Given the description of an element on the screen output the (x, y) to click on. 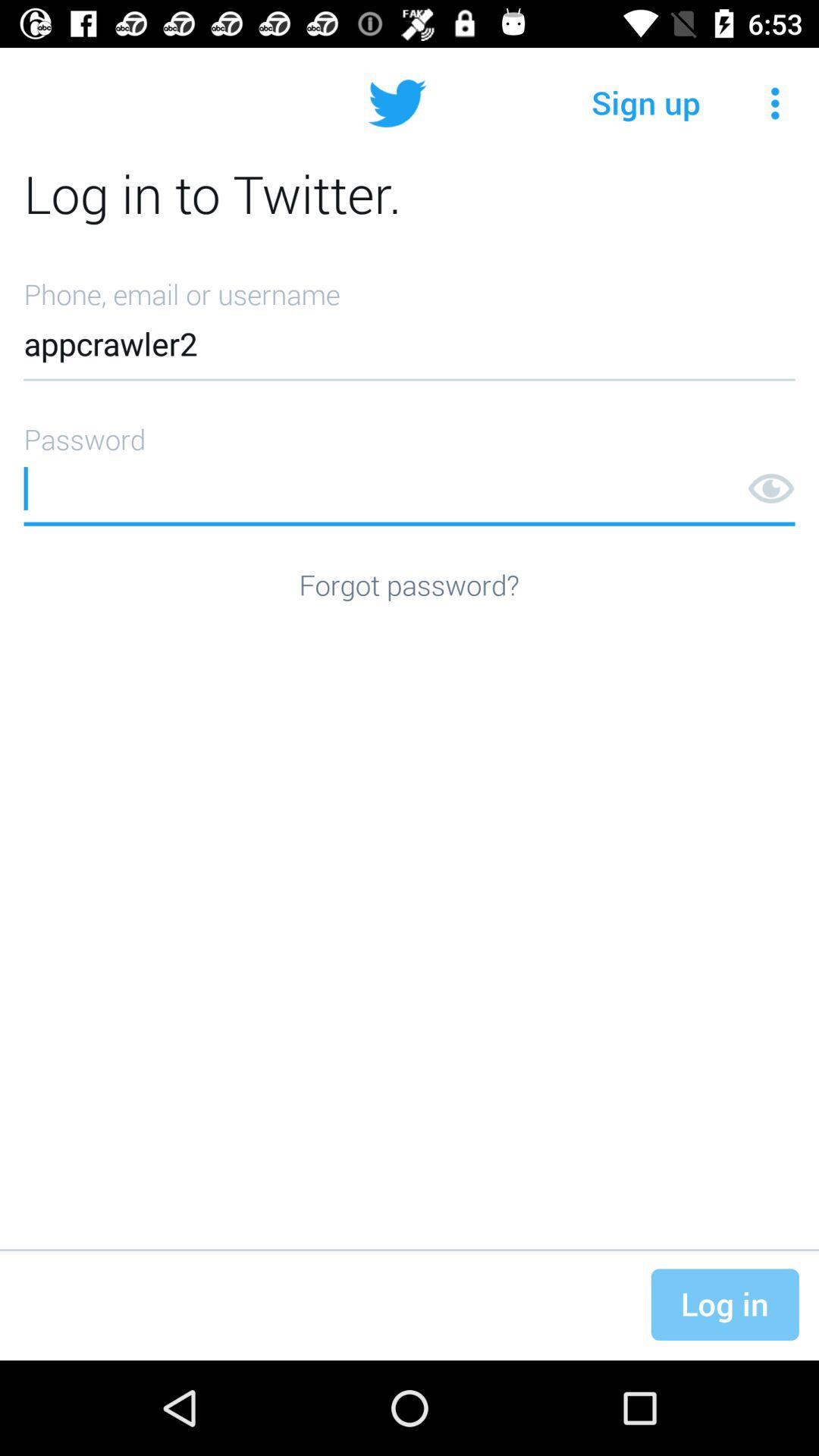
press the item below log in to item (409, 323)
